Given the description of an element on the screen output the (x, y) to click on. 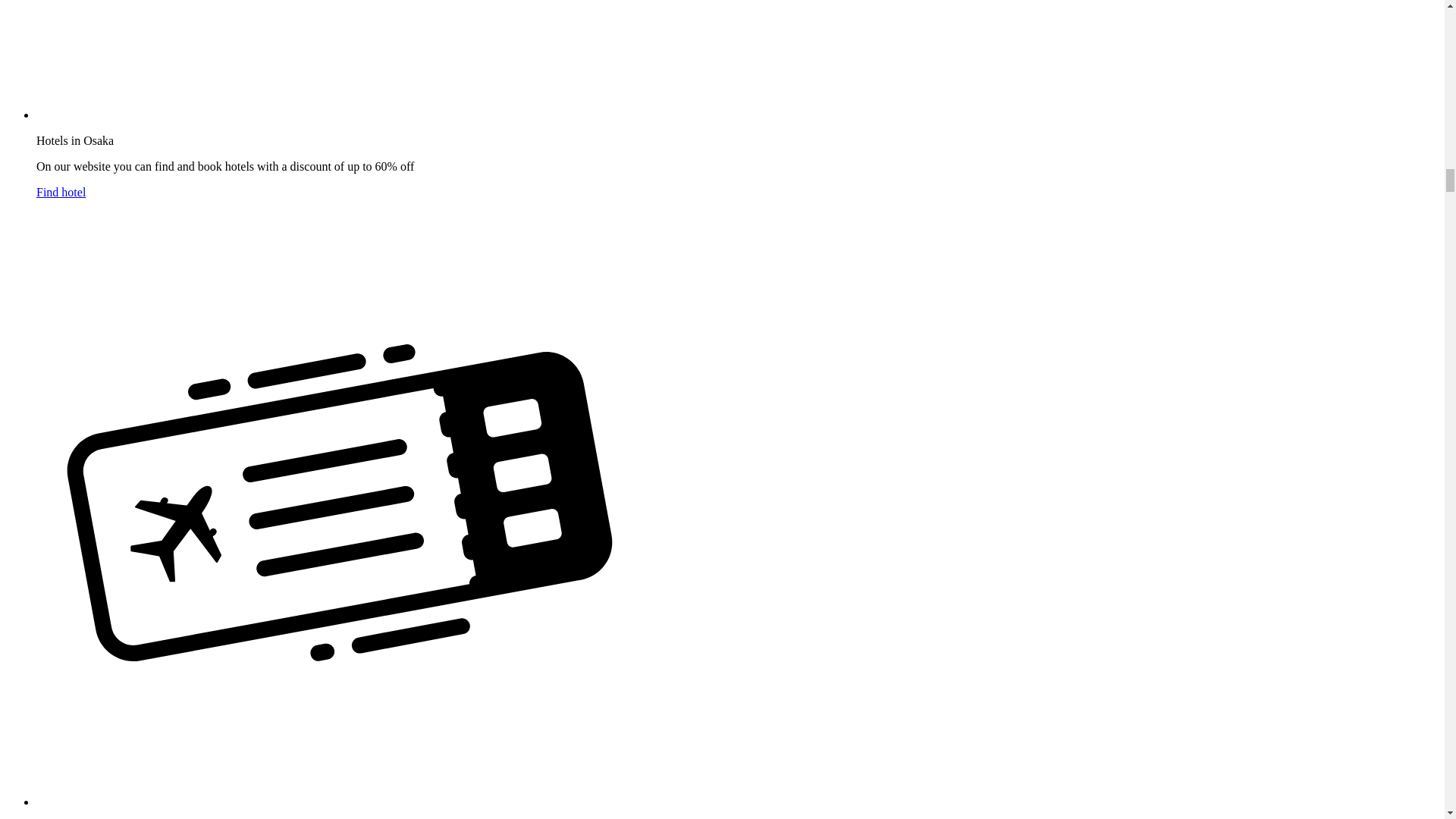
Find hotel (60, 192)
